Given the description of an element on the screen output the (x, y) to click on. 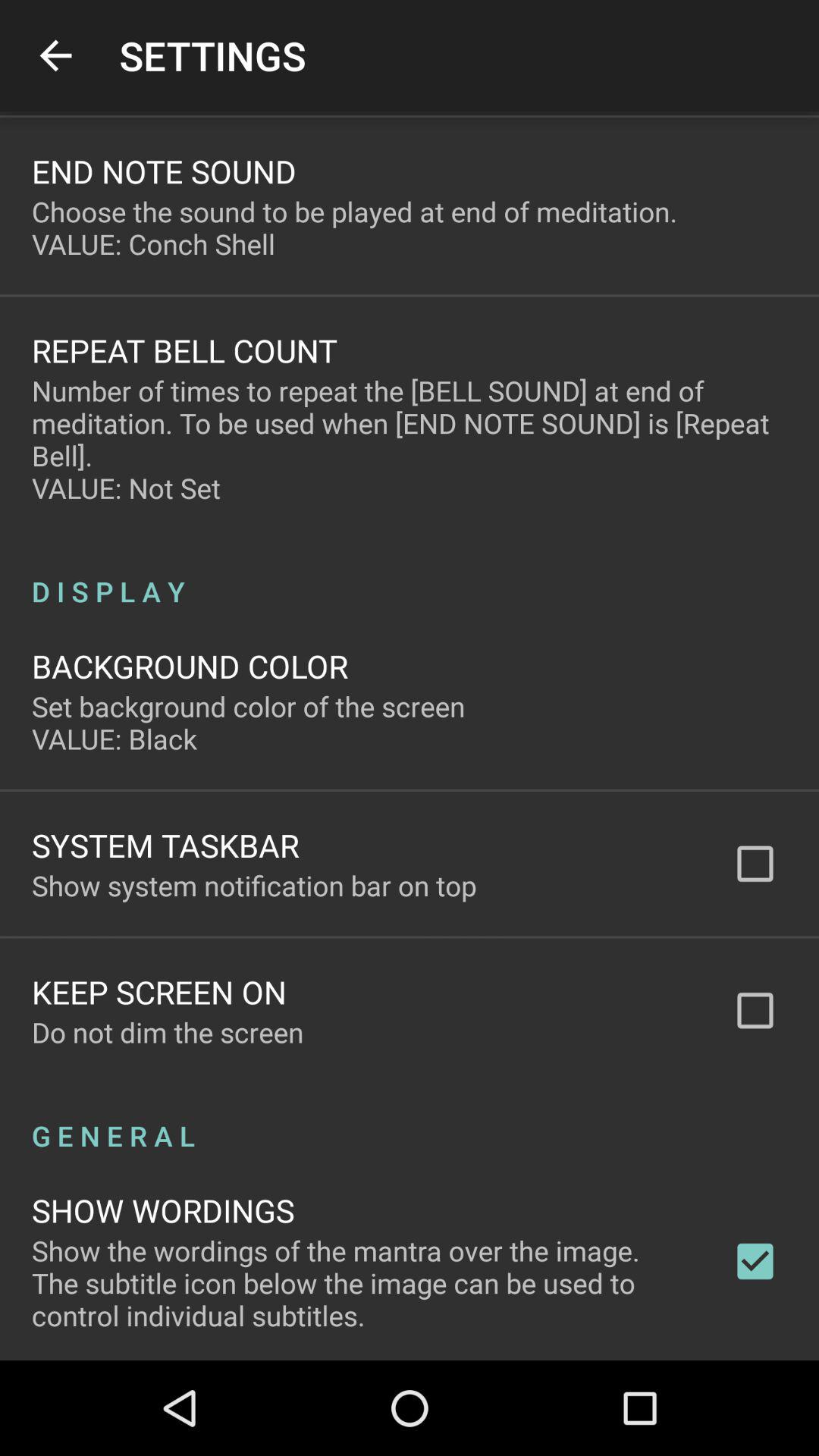
scroll to g e n item (409, 1119)
